Given the description of an element on the screen output the (x, y) to click on. 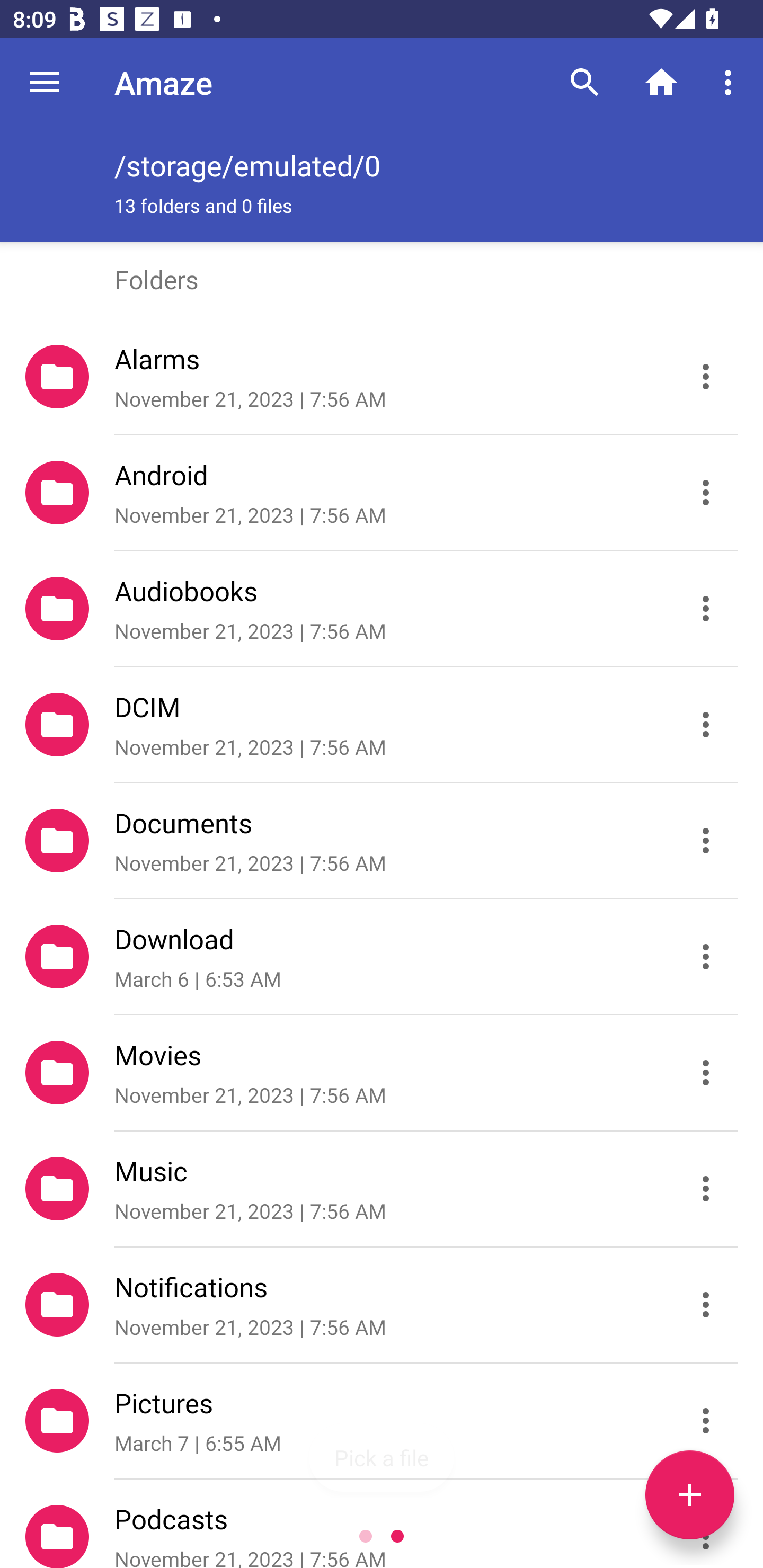
Navigate up (44, 82)
Search (585, 81)
Home (661, 81)
More options (731, 81)
Alarms November 21, 2023 | 7:56 AM (381, 376)
Android November 21, 2023 | 7:56 AM (381, 492)
Audiobooks November 21, 2023 | 7:56 AM (381, 608)
DCIM November 21, 2023 | 7:56 AM (381, 724)
Documents November 21, 2023 | 7:56 AM (381, 841)
Download March 6 | 6:53 AM (381, 957)
Movies November 21, 2023 | 7:56 AM (381, 1073)
Music November 21, 2023 | 7:56 AM (381, 1189)
Notifications November 21, 2023 | 7:56 AM (381, 1305)
Pictures March 7 | 6:55 AM (381, 1421)
Podcasts November 21, 2023 | 7:56 AM (381, 1524)
